Given the description of an element on the screen output the (x, y) to click on. 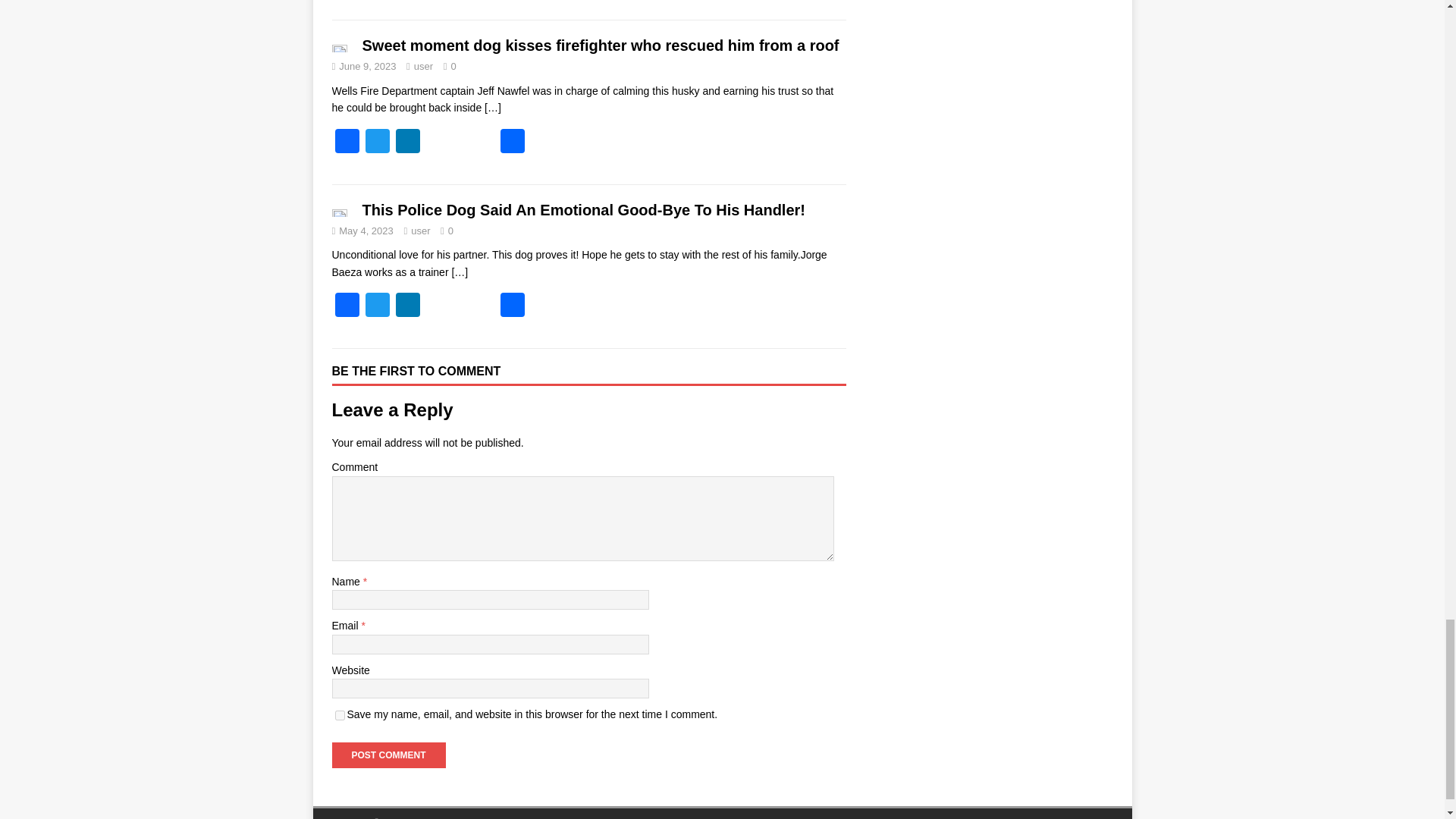
Post Comment (388, 755)
Facebook (346, 142)
LinkedIn (408, 142)
Facebook (346, 306)
yes (339, 715)
Twitter (377, 142)
Twitter (377, 306)
